Given the description of an element on the screen output the (x, y) to click on. 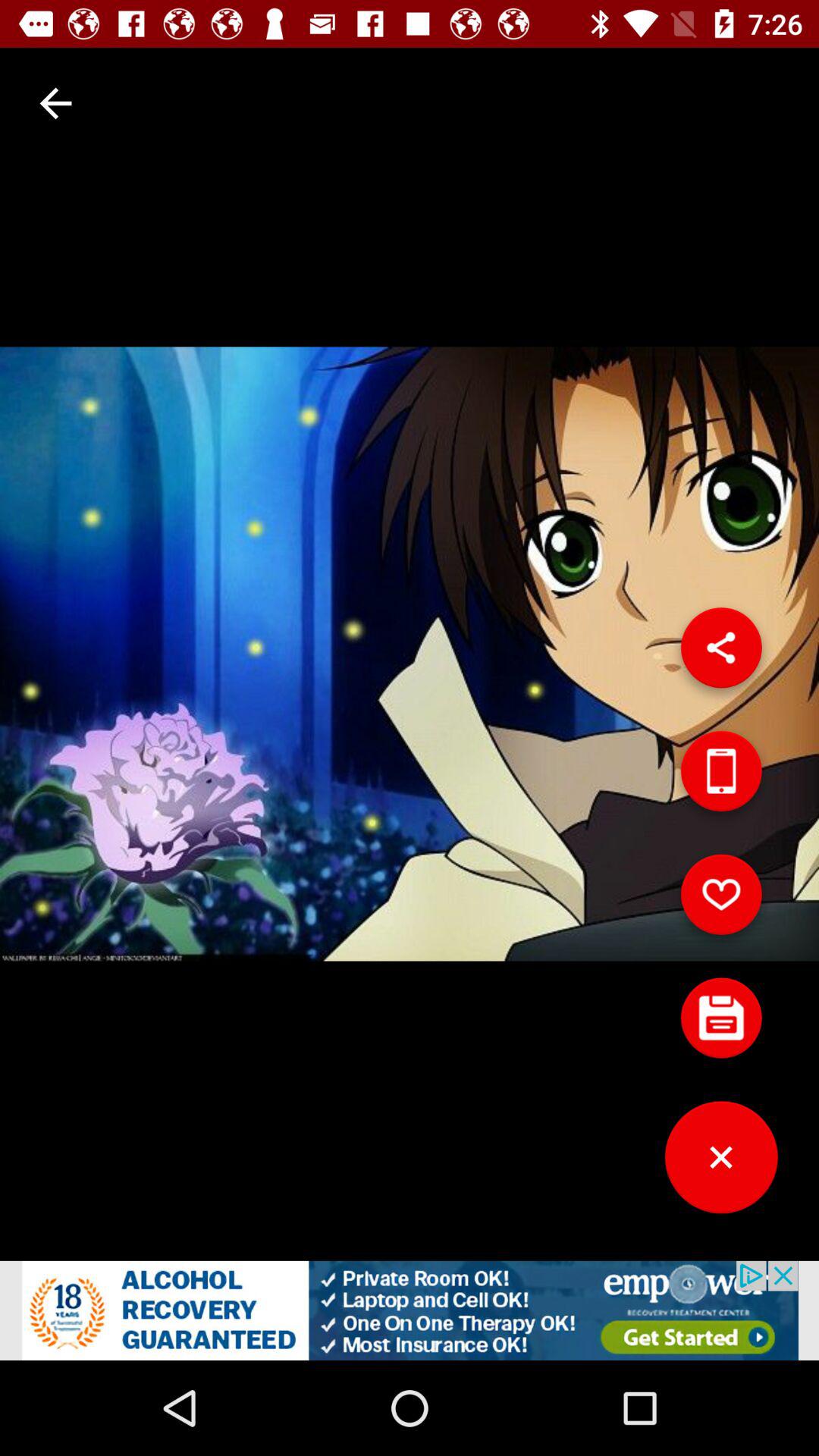
like button (721, 900)
